Given the description of an element on the screen output the (x, y) to click on. 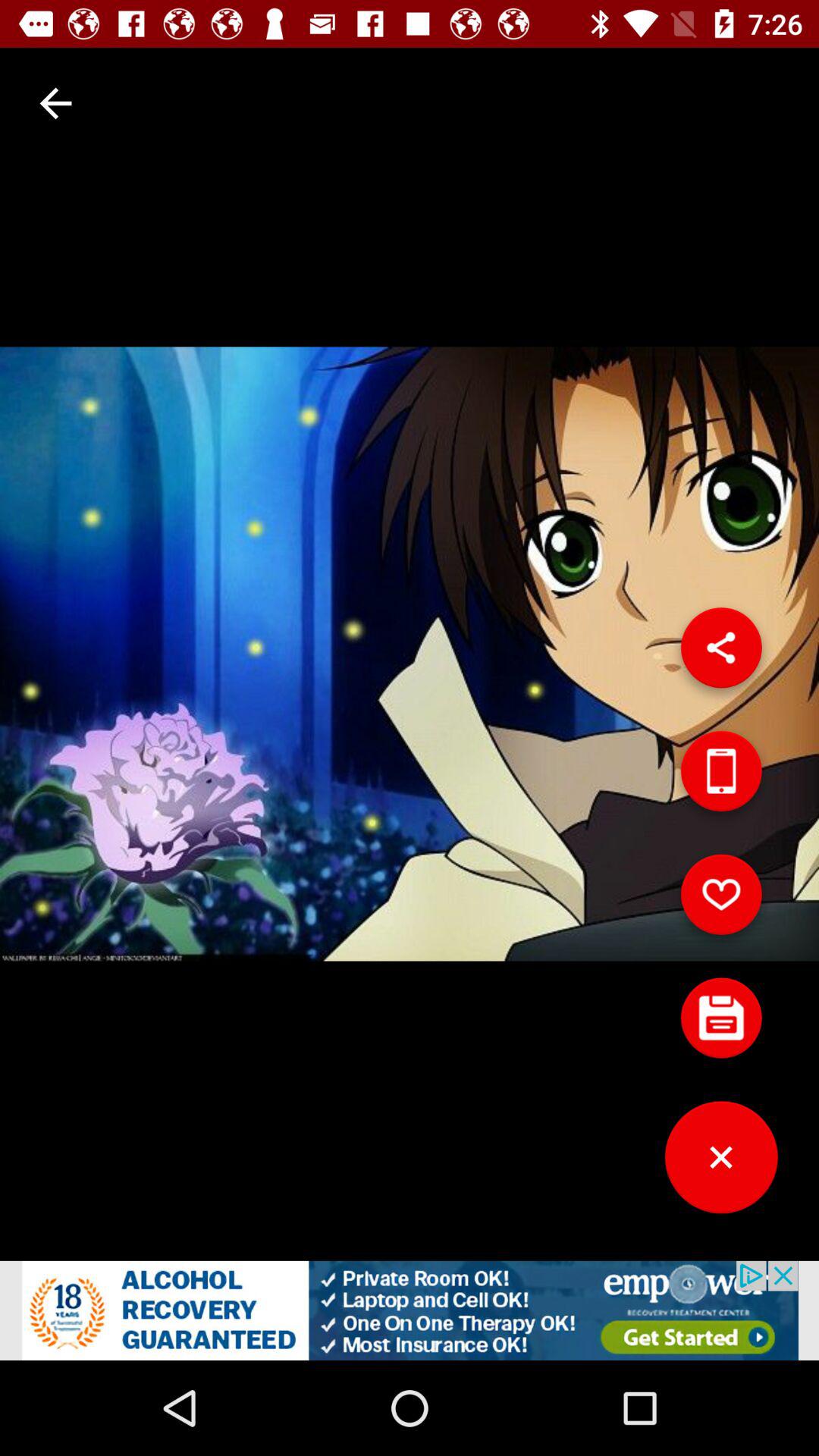
like button (721, 900)
